Given the description of an element on the screen output the (x, y) to click on. 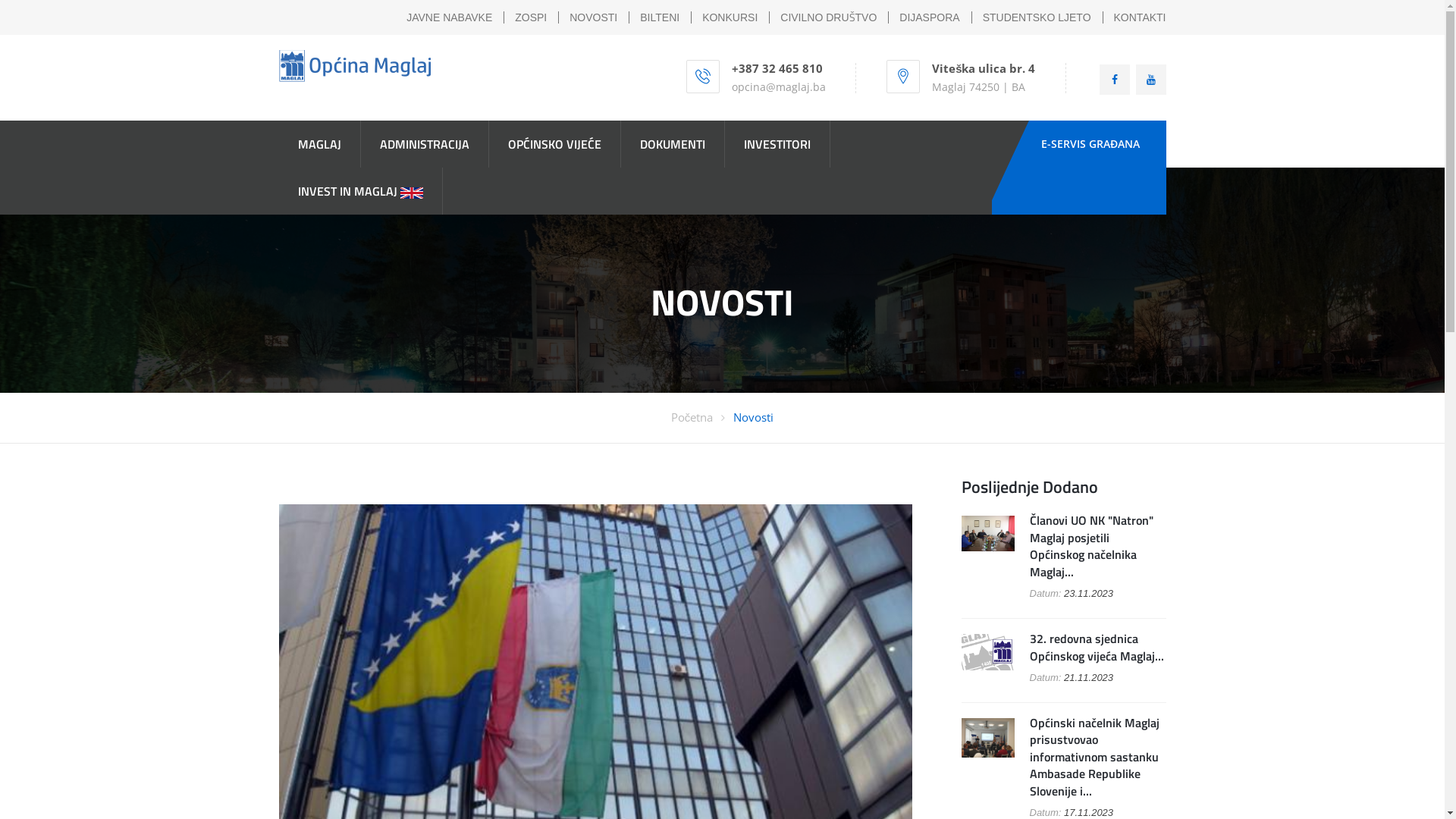
KONKURSI Element type: text (729, 17)
Home Element type: hover (354, 65)
INVESTITORI Element type: text (776, 143)
DOKUMENTI Element type: text (671, 143)
MAGLAJ Element type: text (319, 143)
Novosti Element type: text (753, 416)
opcina@maglaj.ba Element type: text (778, 86)
NOVOSTI Element type: text (593, 17)
ZOSPI Element type: text (530, 17)
INVEST IN MAGLAJ Element type: text (360, 190)
DIJASPORA Element type: text (929, 17)
STUDENTSKO LJETO Element type: text (1036, 17)
23.11.2023 Element type: text (1088, 593)
BILTENI Element type: text (659, 17)
17.11.2023 Element type: text (1088, 812)
JAVNE NABAVKE Element type: text (449, 17)
ADMINISTRACIJA Element type: text (424, 143)
KONTAKTI Element type: text (1139, 17)
21.11.2023 Element type: text (1088, 677)
